Given the description of an element on the screen output the (x, y) to click on. 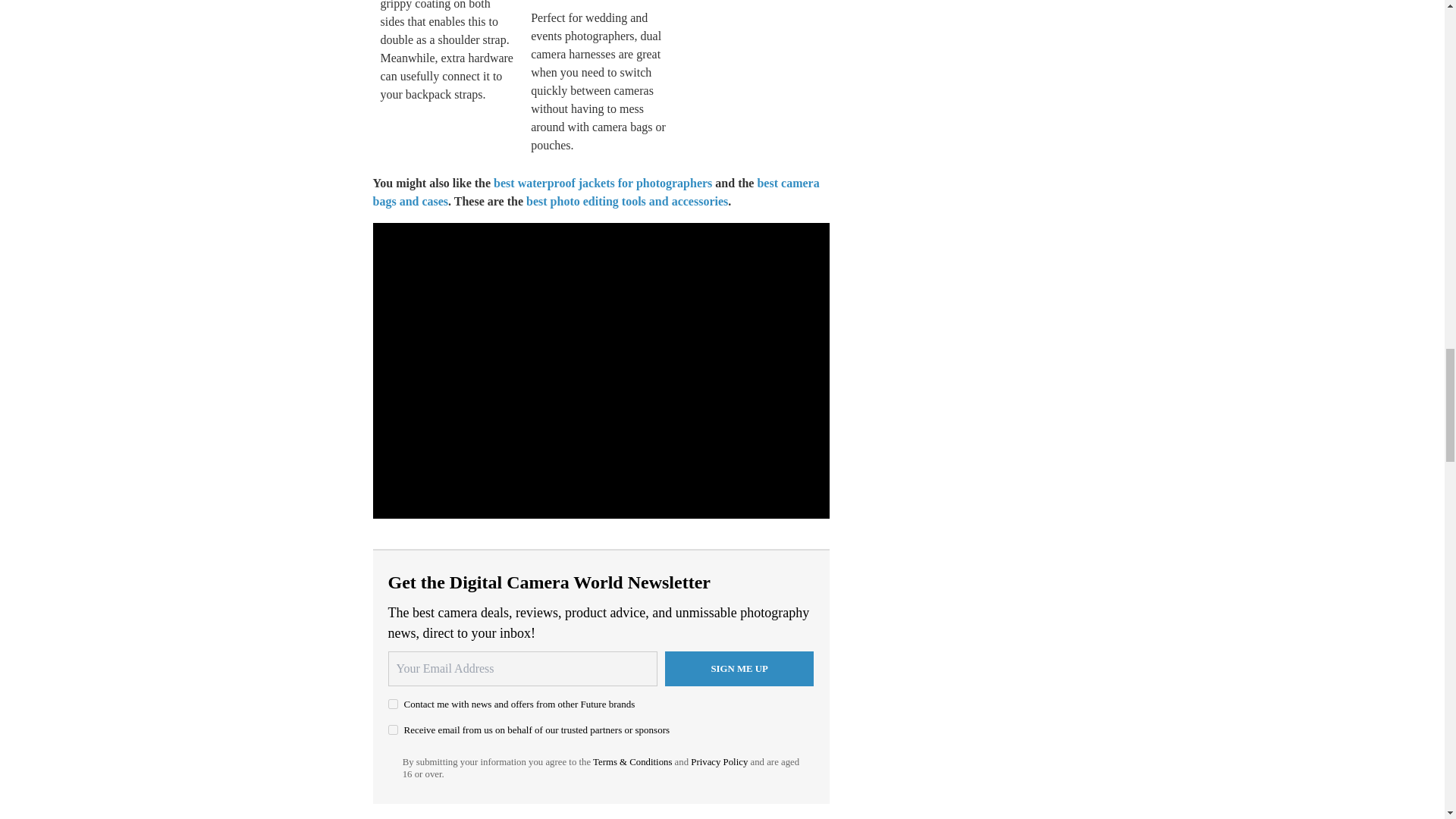
on (392, 704)
on (392, 729)
Sign me up (739, 668)
